Given the description of an element on the screen output the (x, y) to click on. 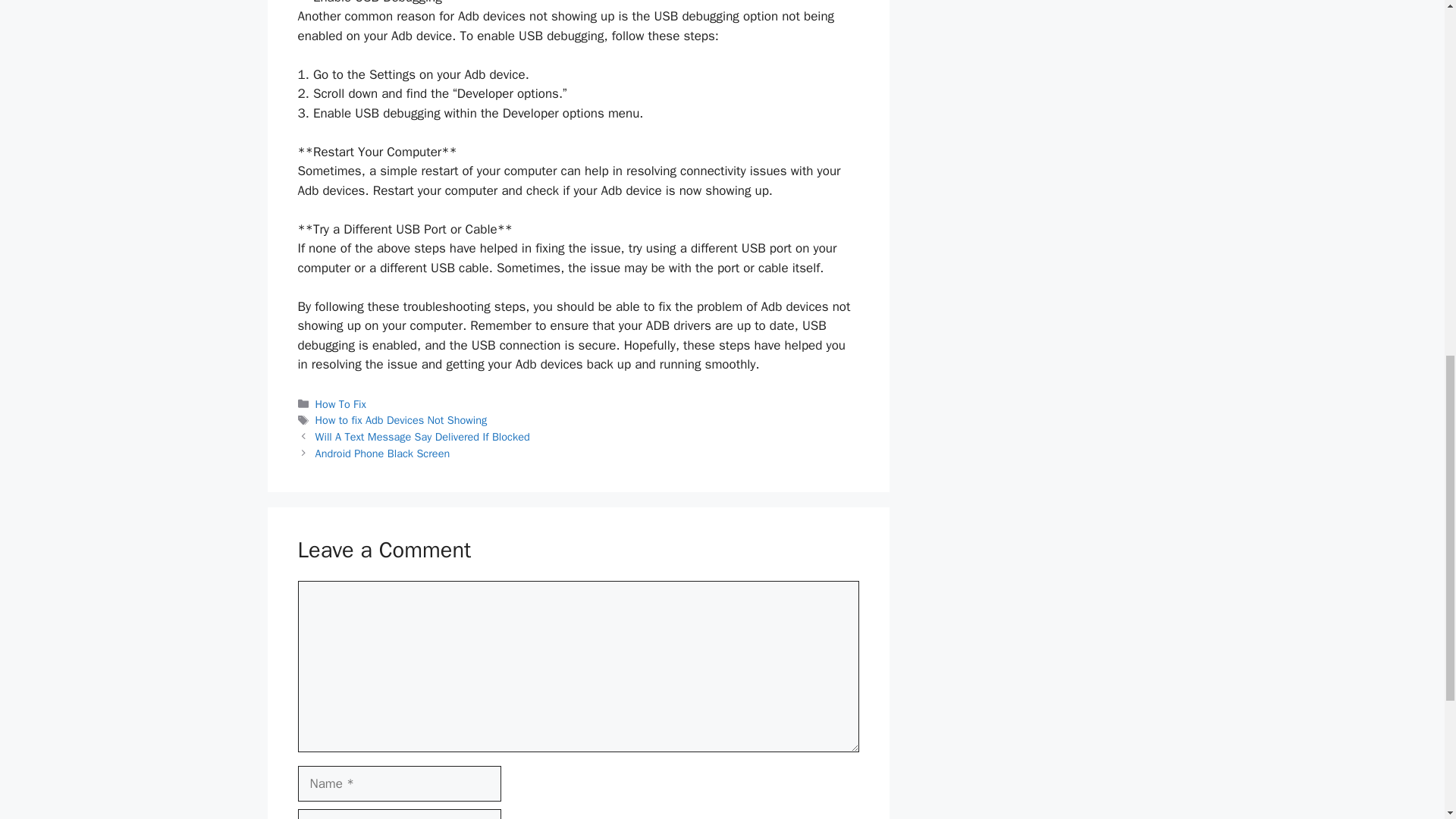
Android Phone Black Screen (382, 453)
Will A Text Message Say Delivered If Blocked (422, 436)
How To Fix (340, 404)
How to fix Adb Devices Not Showing (401, 419)
